Given the description of an element on the screen output the (x, y) to click on. 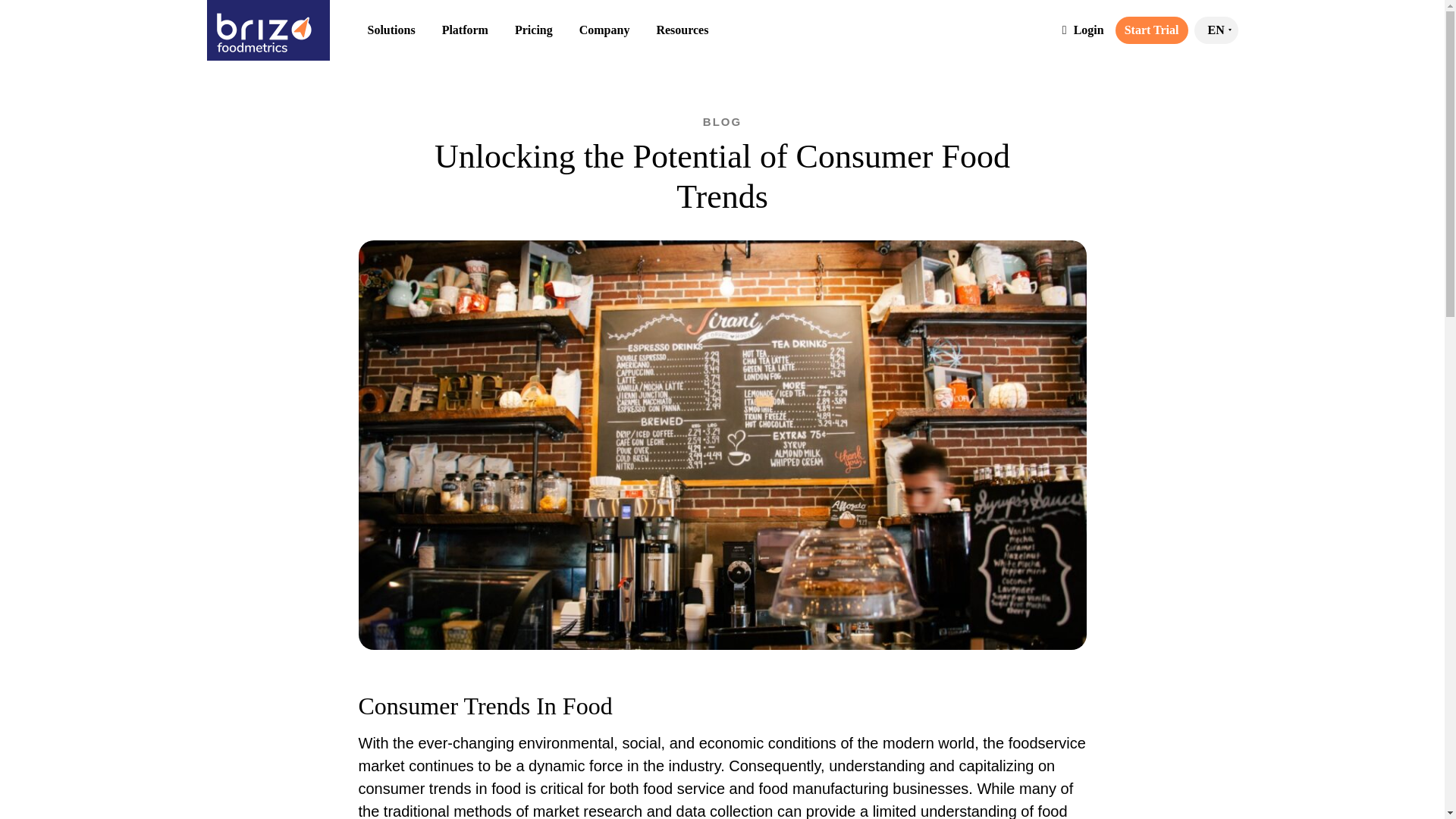
Login (1082, 29)
Start Trial (1151, 29)
